Given the description of an element on the screen output the (x, y) to click on. 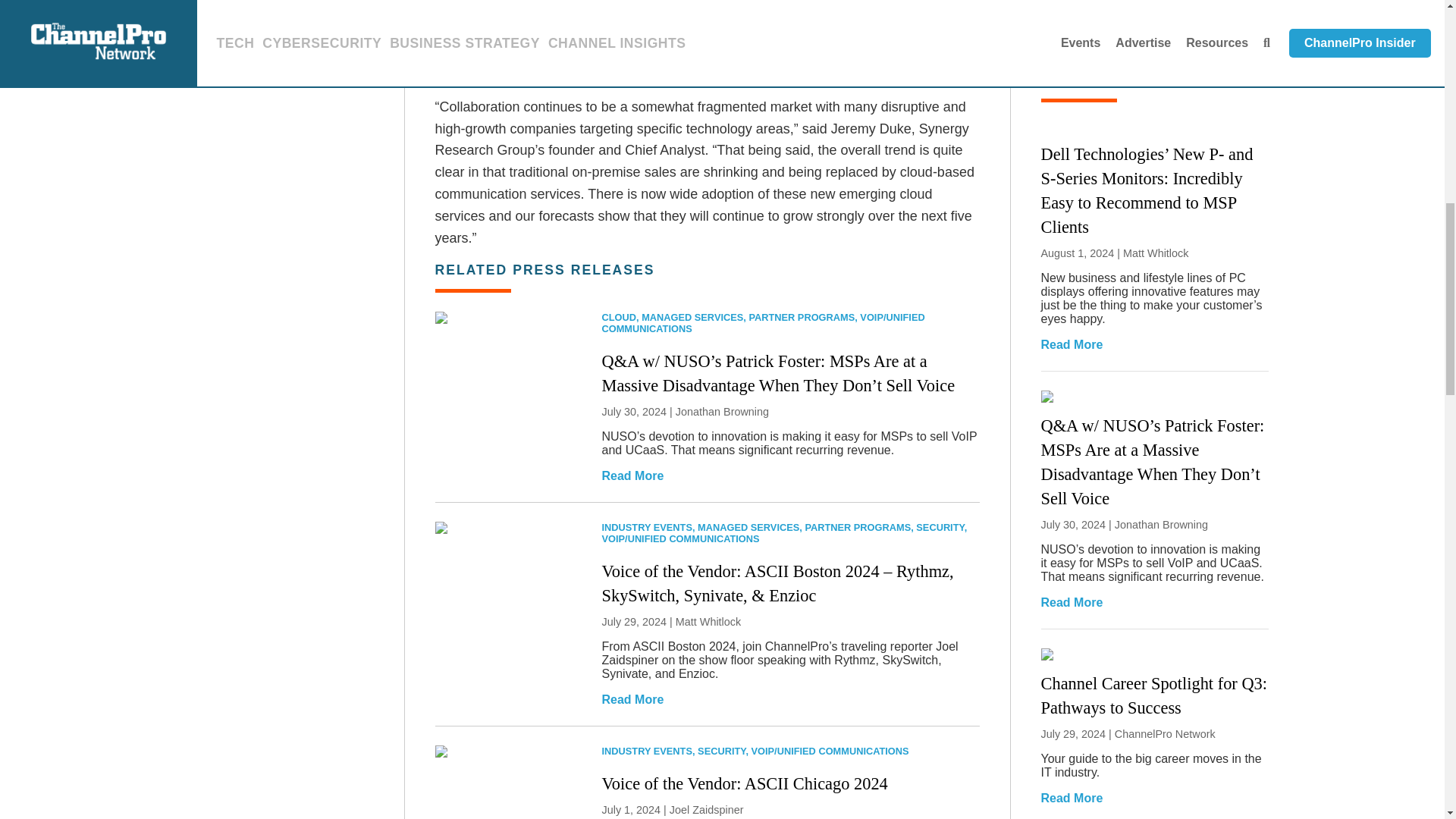
Posts by Jonathan Browning (1161, 524)
Posts by Matt Whitlock (708, 621)
Posts by Joel Zaidspiner (706, 809)
Posts by Matt Whitlock (1155, 253)
Posts by ChannelPro Network (1165, 734)
Posts by Jonathan Browning (721, 411)
